Given the description of an element on the screen output the (x, y) to click on. 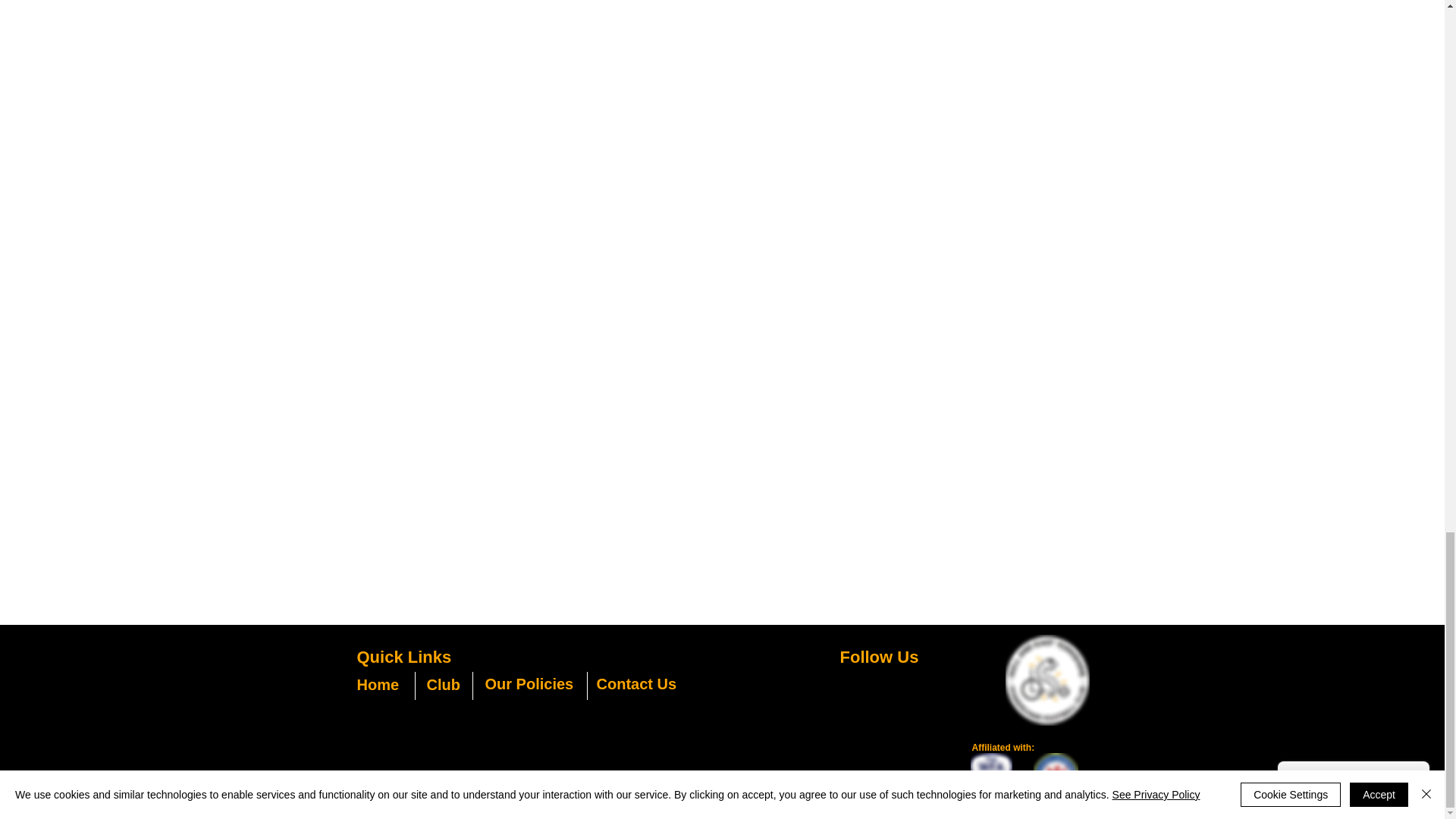
Contact Us (636, 683)
Our Policies (528, 683)
Club (443, 684)
Home (377, 684)
